Given the description of an element on the screen output the (x, y) to click on. 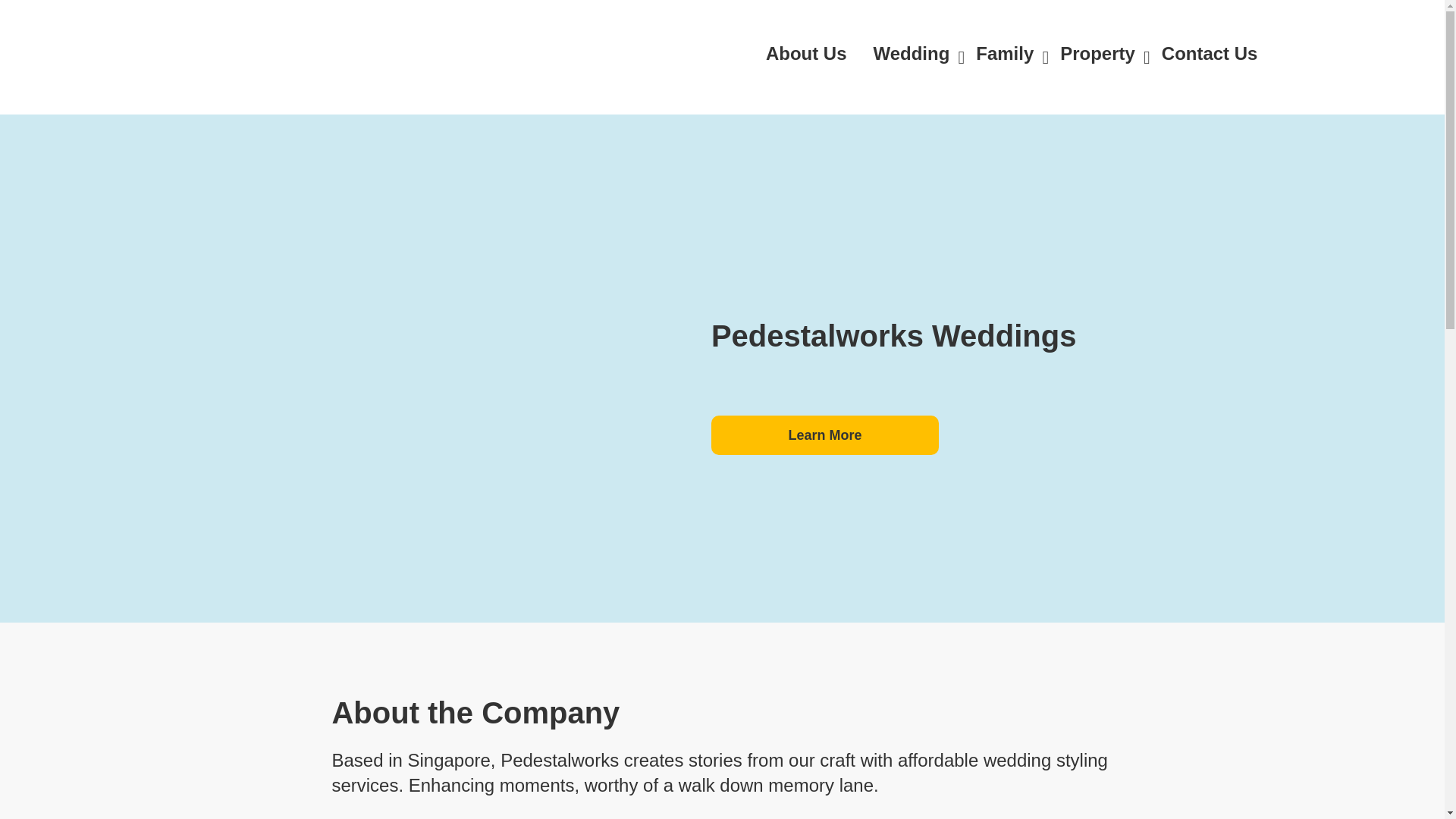
Family (1011, 53)
Wedding (917, 53)
Pedestalworks Weddings (462, 270)
GoCompare (308, 57)
About Us (813, 53)
